Given the description of an element on the screen output the (x, y) to click on. 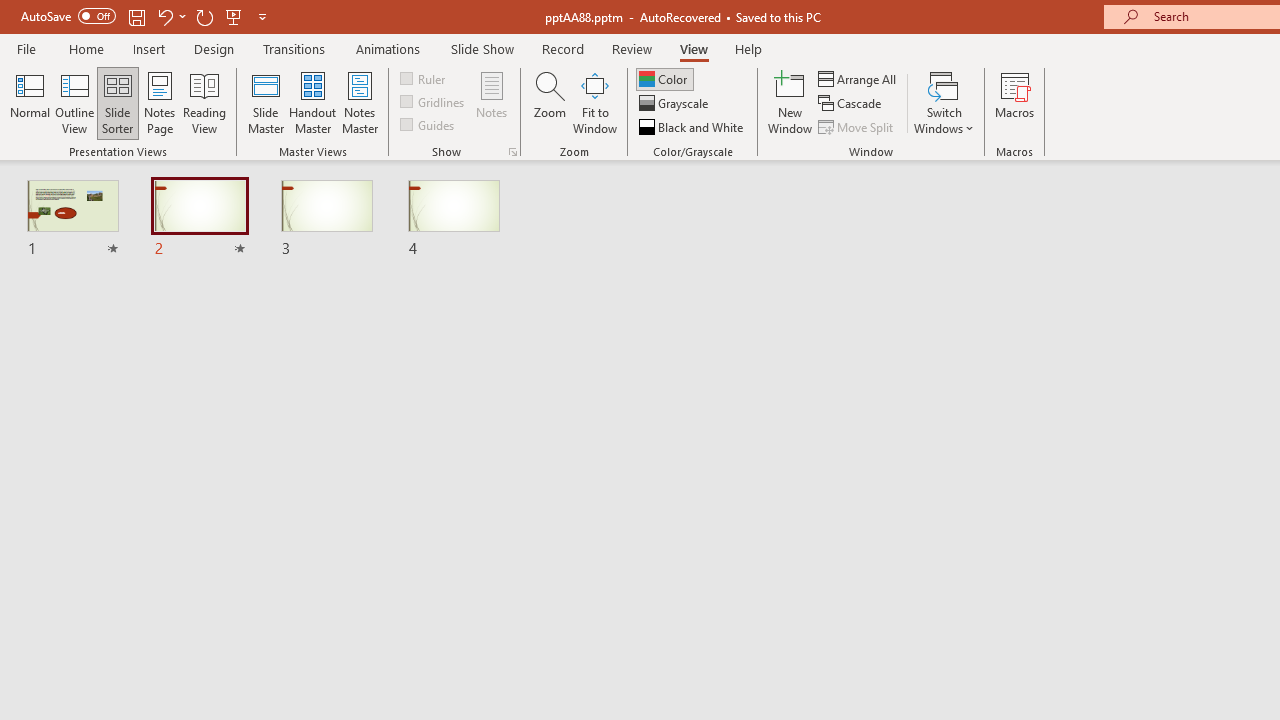
Outline View (74, 102)
Black and White (693, 126)
Gridlines (433, 101)
Grid Settings... (512, 151)
Guides (428, 124)
Move Split (857, 126)
